Given the description of an element on the screen output the (x, y) to click on. 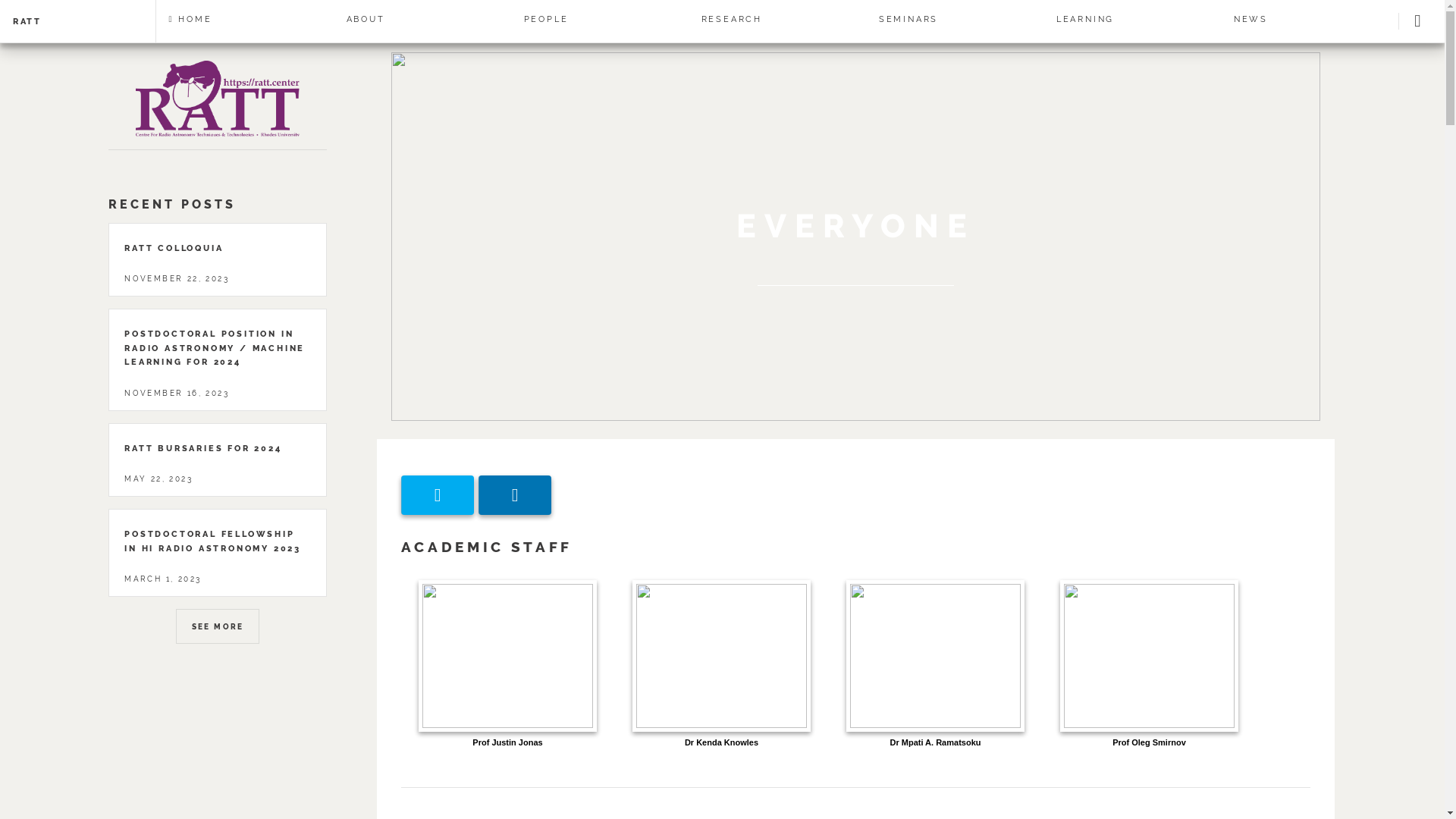
RATT BURSARIES FOR 2024 Element type: text (202, 447)
  Element type: text (1421, 20)
RATT COLLOQUIA Element type: text (173, 247)
POSTDOCTORAL FELLOWSHIP IN HI RADIO ASTRONOMY 2023 Element type: text (212, 540)
ABOUT Element type: text (422, 18)
RESEARCH Element type: text (777, 18)
SEMINARS Element type: text (954, 18)
HOME Element type: text (244, 18)
PEOPLE Element type: text (599, 18)
NEWS Element type: text (1309, 18)
EVERYONE Element type: text (855, 225)
LEARNING Element type: text (1131, 18)
RATT Element type: text (65, 21)
SEE MORE Element type: text (217, 625)
